Given the description of an element on the screen output the (x, y) to click on. 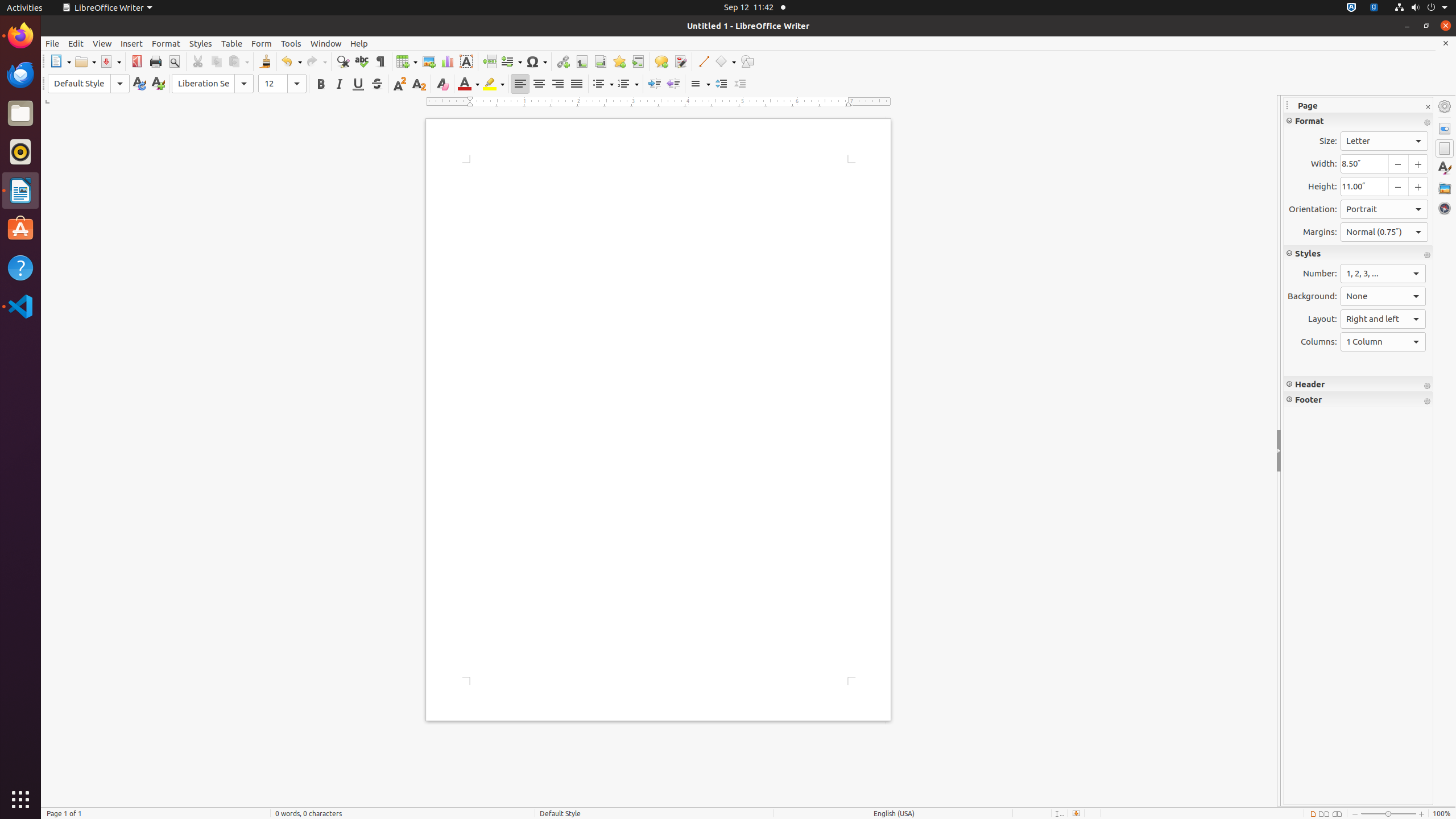
Left Element type: toggle-button (519, 83)
PDF Element type: push-button (136, 61)
Clone Element type: push-button (264, 61)
LibreOffice Writer Element type: push-button (20, 190)
Undo Element type: push-button (290, 61)
